Given the description of an element on the screen output the (x, y) to click on. 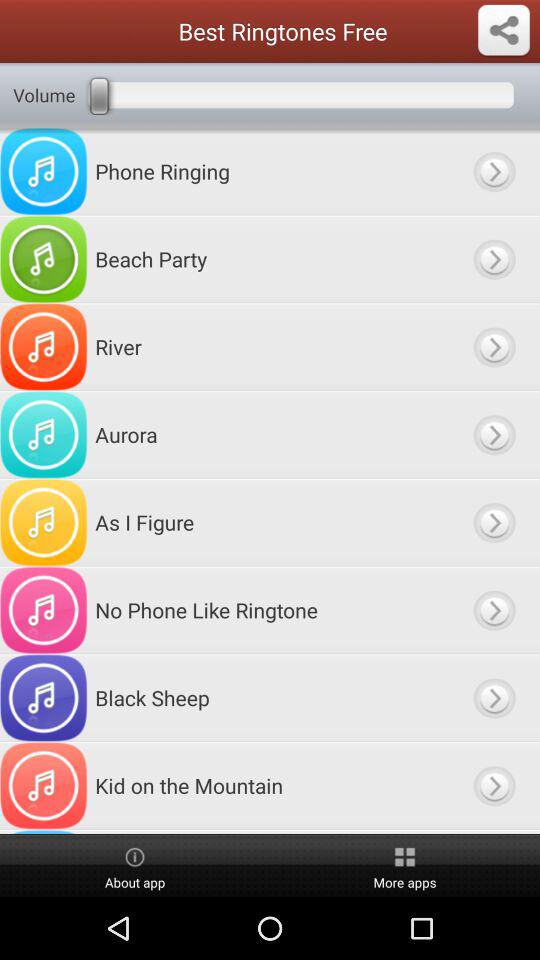
preview ringtone (494, 522)
